Given the description of an element on the screen output the (x, y) to click on. 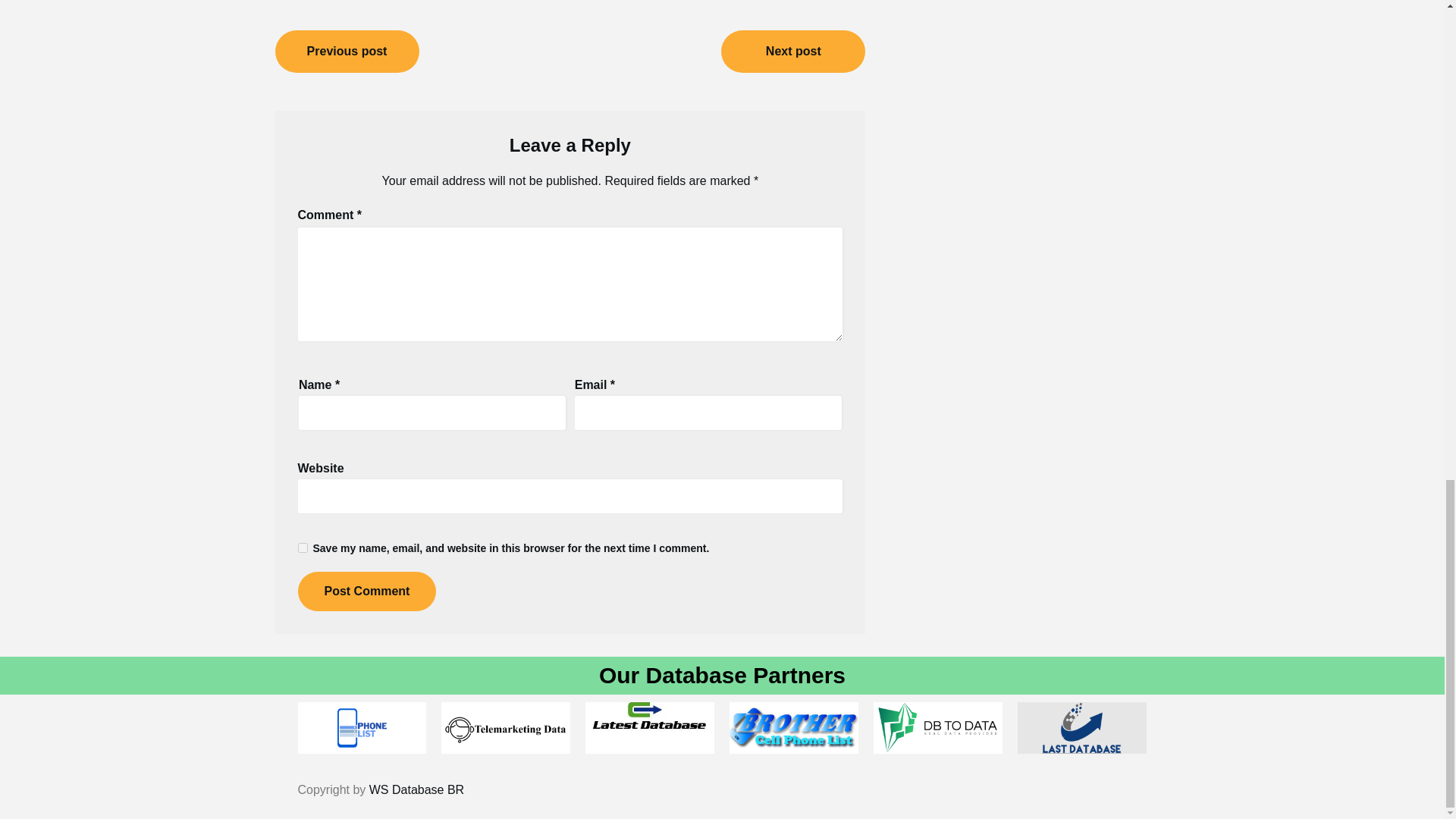
Previous post (347, 51)
Post Comment (366, 590)
Post Comment (366, 590)
yes (302, 547)
Next post (792, 51)
